Given the description of an element on the screen output the (x, y) to click on. 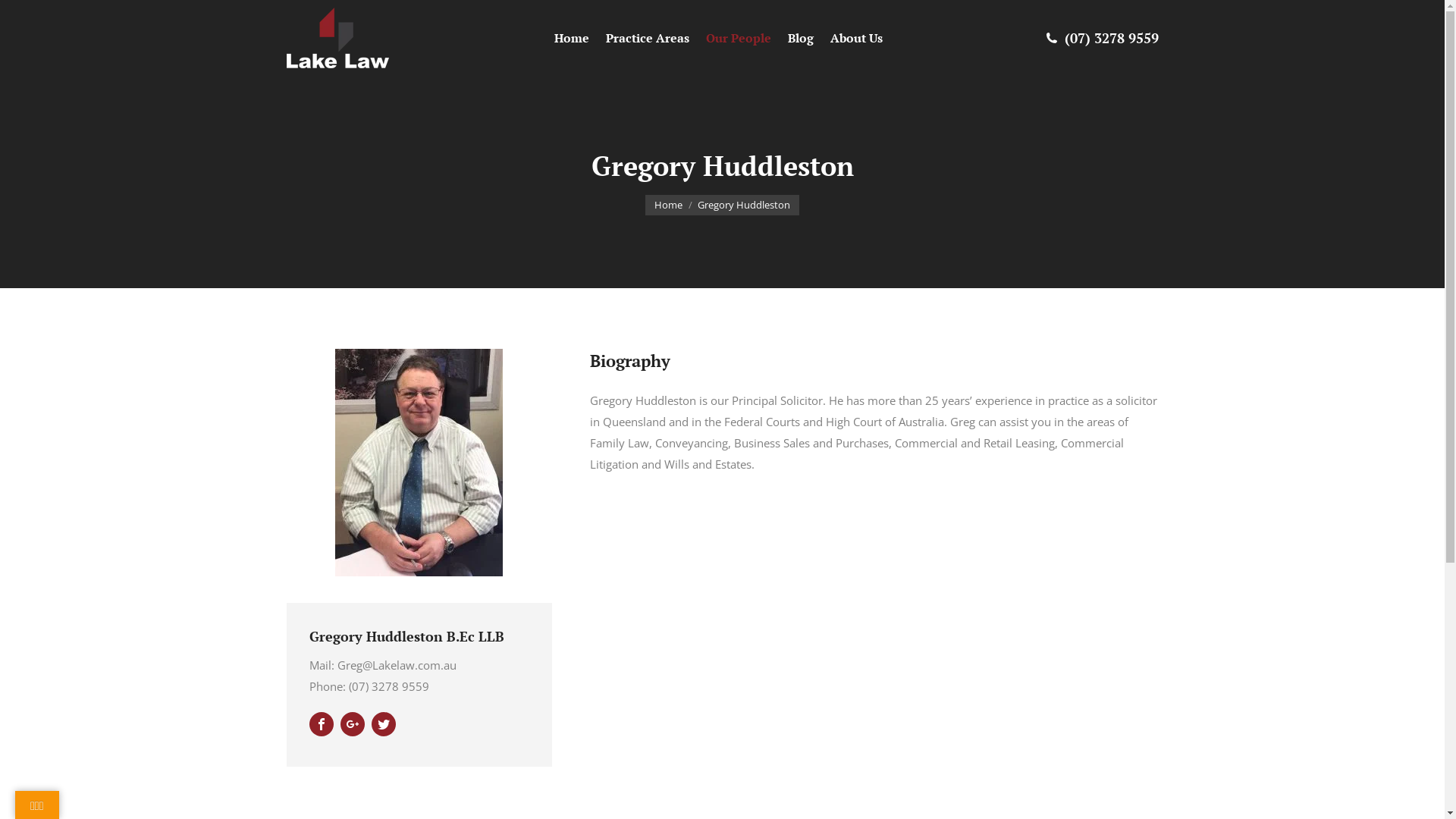
greg-221x300 Element type: hover (418, 462)
Our People Element type: text (739, 37)
About Us Element type: text (857, 37)
Practice Areas Element type: text (648, 37)
Home Element type: text (668, 204)
Home Element type: text (573, 37)
Blog Element type: text (801, 37)
